Given the description of an element on the screen output the (x, y) to click on. 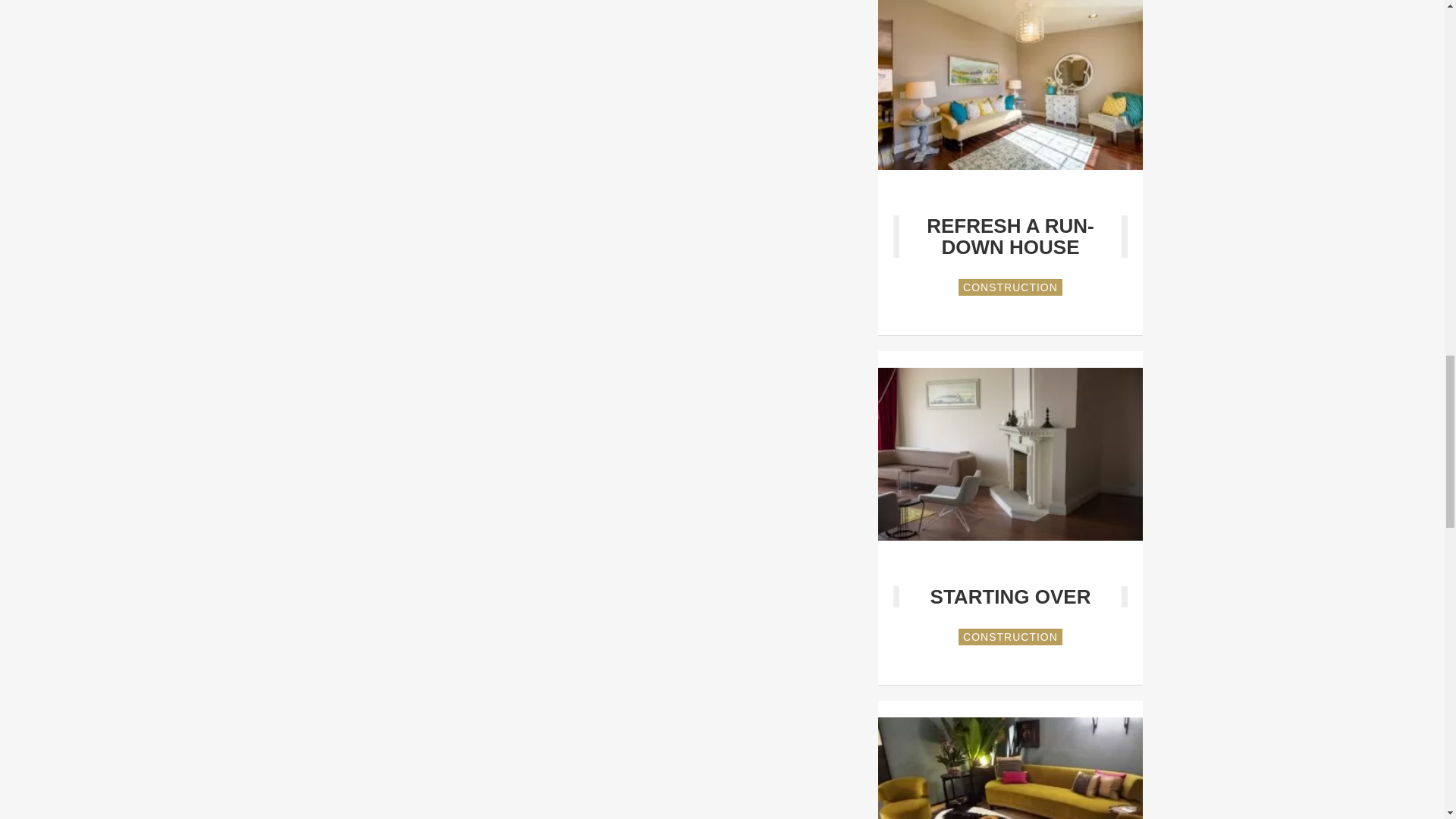
REFRESH A RUN-DOWN HOUSE (1010, 236)
CONSTRUCTION (1010, 636)
CONSTRUCTION (1010, 287)
STARTING OVER (1010, 596)
